Given the description of an element on the screen output the (x, y) to click on. 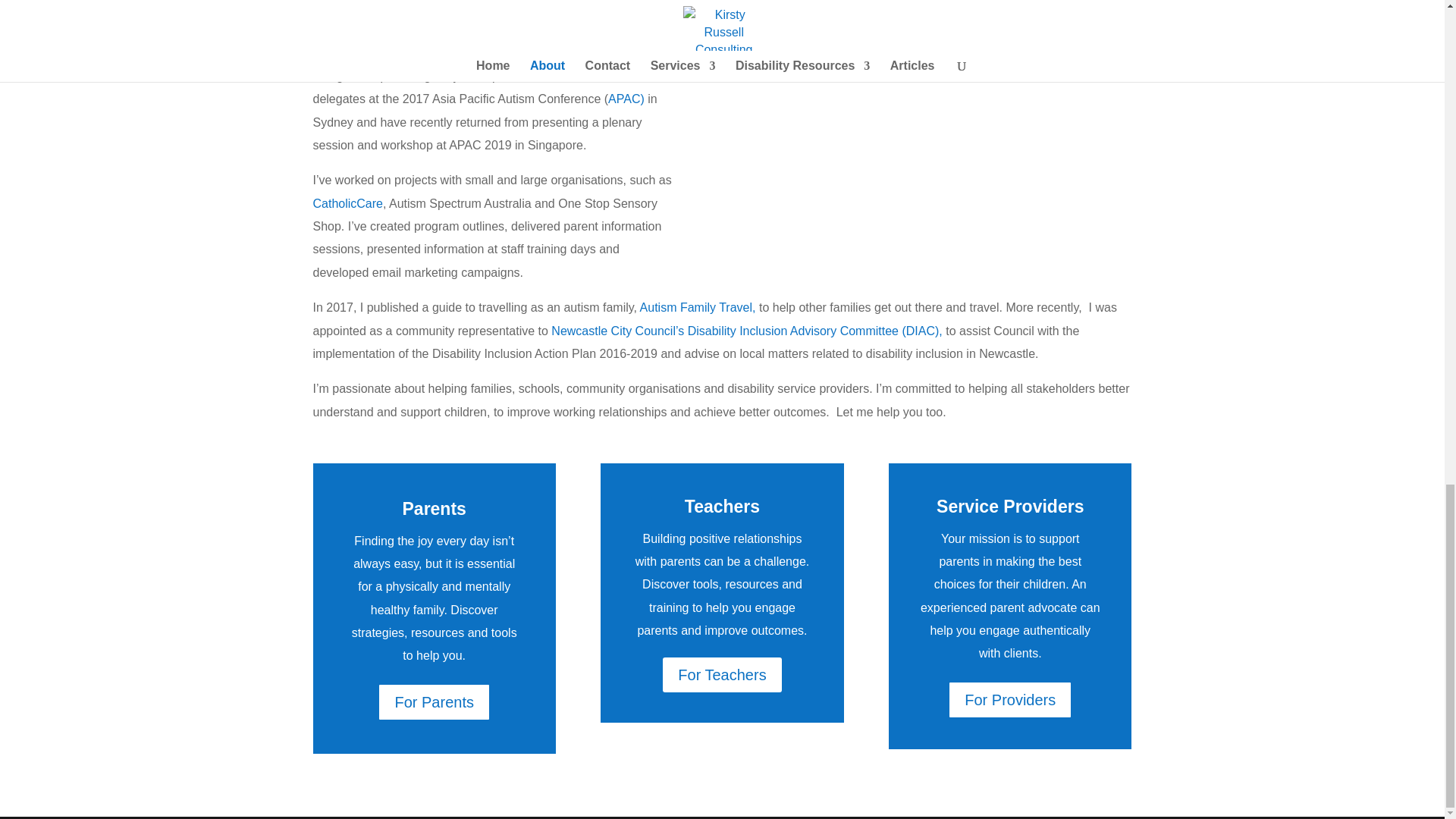
For Teachers (721, 674)
For Parents (433, 702)
TV (473, 51)
For Providers (1009, 699)
radio (395, 51)
print (427, 51)
Autism Family Travel, (699, 307)
Positive Special Needs Parenting (501, 795)
CatholicCare (347, 203)
albinism (649, 51)
